Given the description of an element on the screen output the (x, y) to click on. 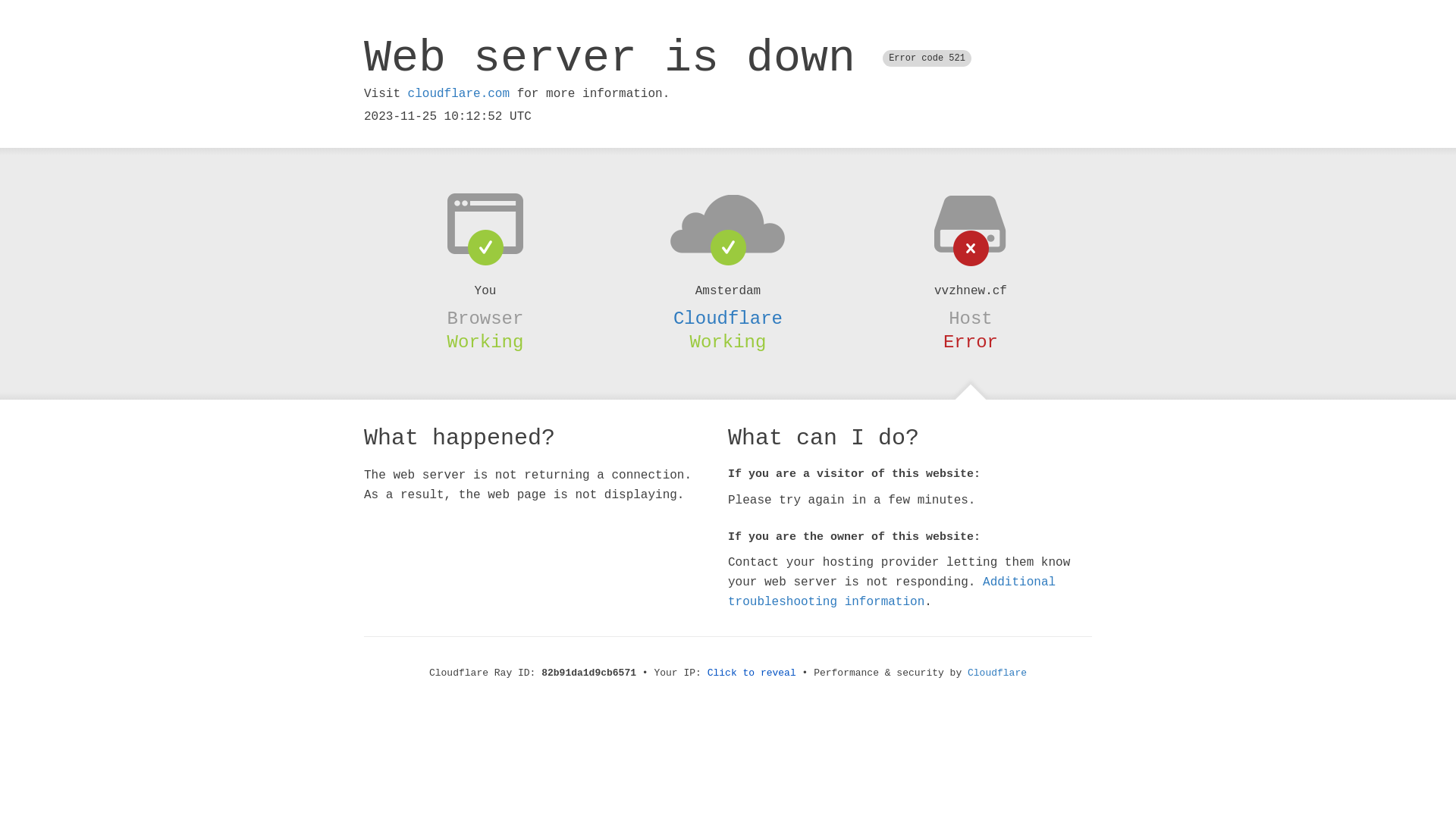
Additional troubleshooting information Element type: text (891, 591)
Cloudflare Element type: text (996, 672)
Cloudflare Element type: text (727, 318)
Click to reveal Element type: text (751, 672)
cloudflare.com Element type: text (458, 93)
